Given the description of an element on the screen output the (x, y) to click on. 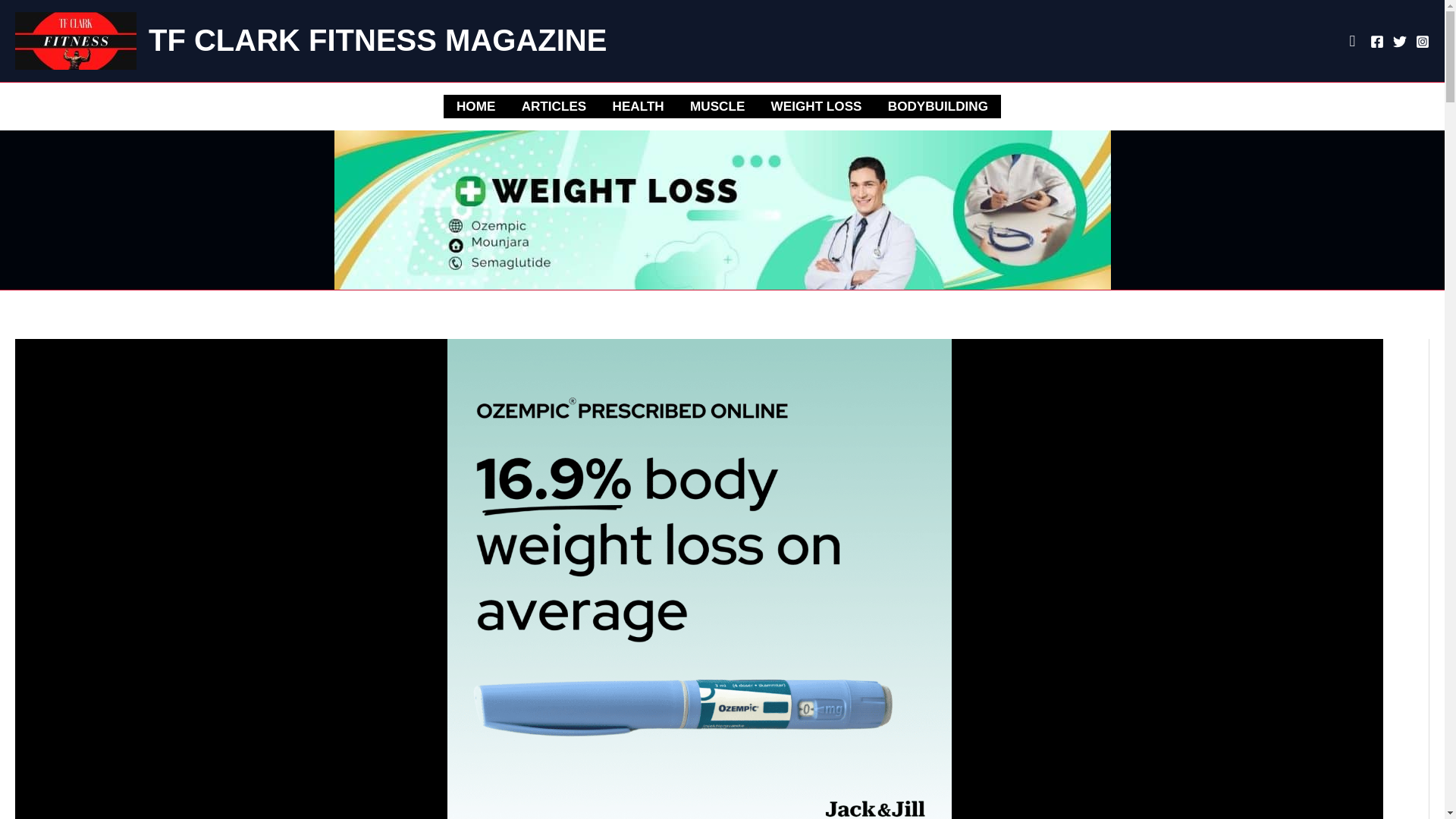
TF CLARK FITNESS MAGAZINE (377, 39)
ARTICLES (553, 106)
BODYBUILDING (938, 106)
MUSCLE (717, 106)
HEALTH (637, 106)
WEIGHT LOSS (816, 106)
HOME (476, 106)
